Given the description of an element on the screen output the (x, y) to click on. 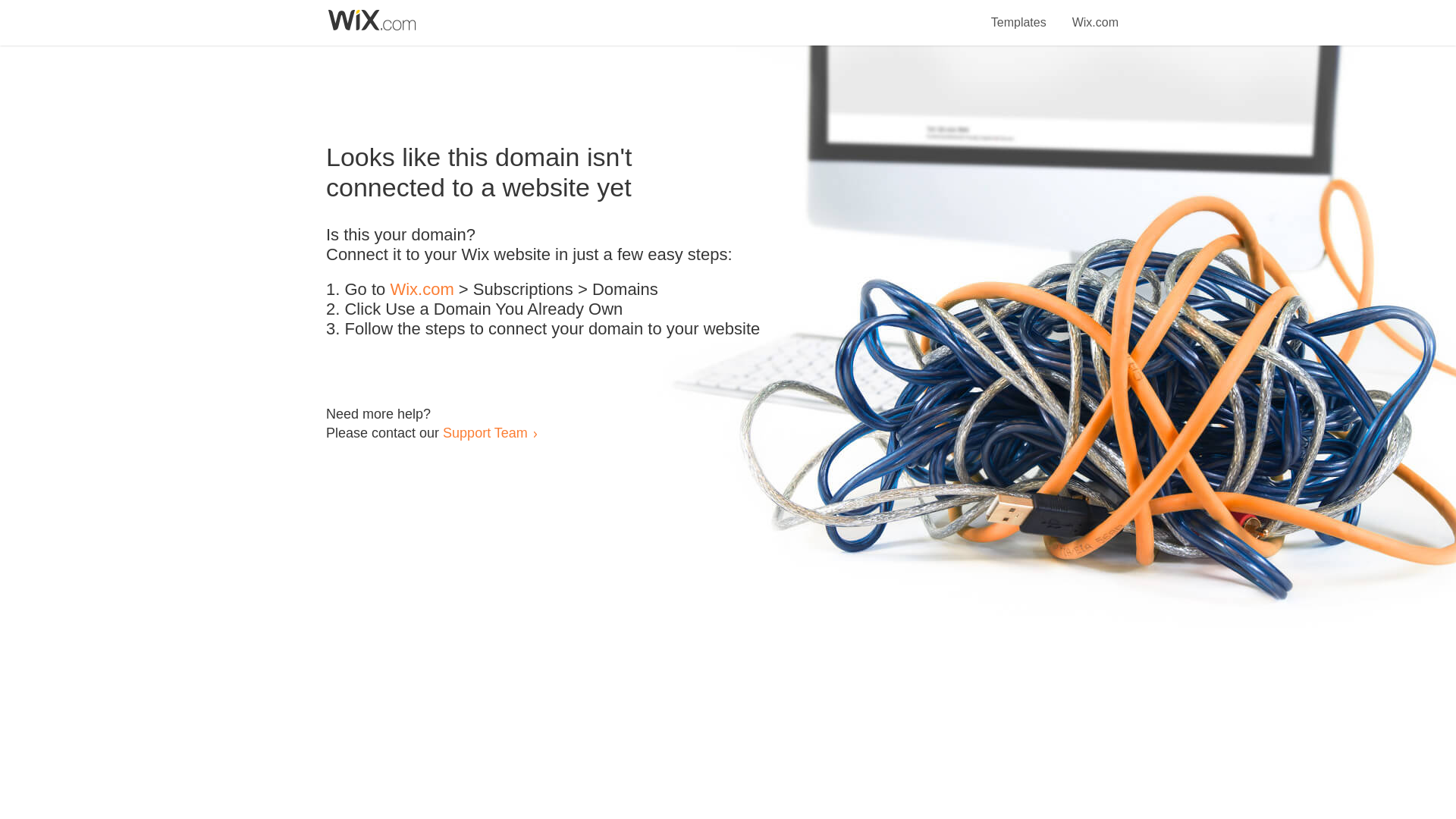
Templates (1018, 14)
Support Team (484, 432)
Wix.com (421, 289)
Wix.com (1095, 14)
